Given the description of an element on the screen output the (x, y) to click on. 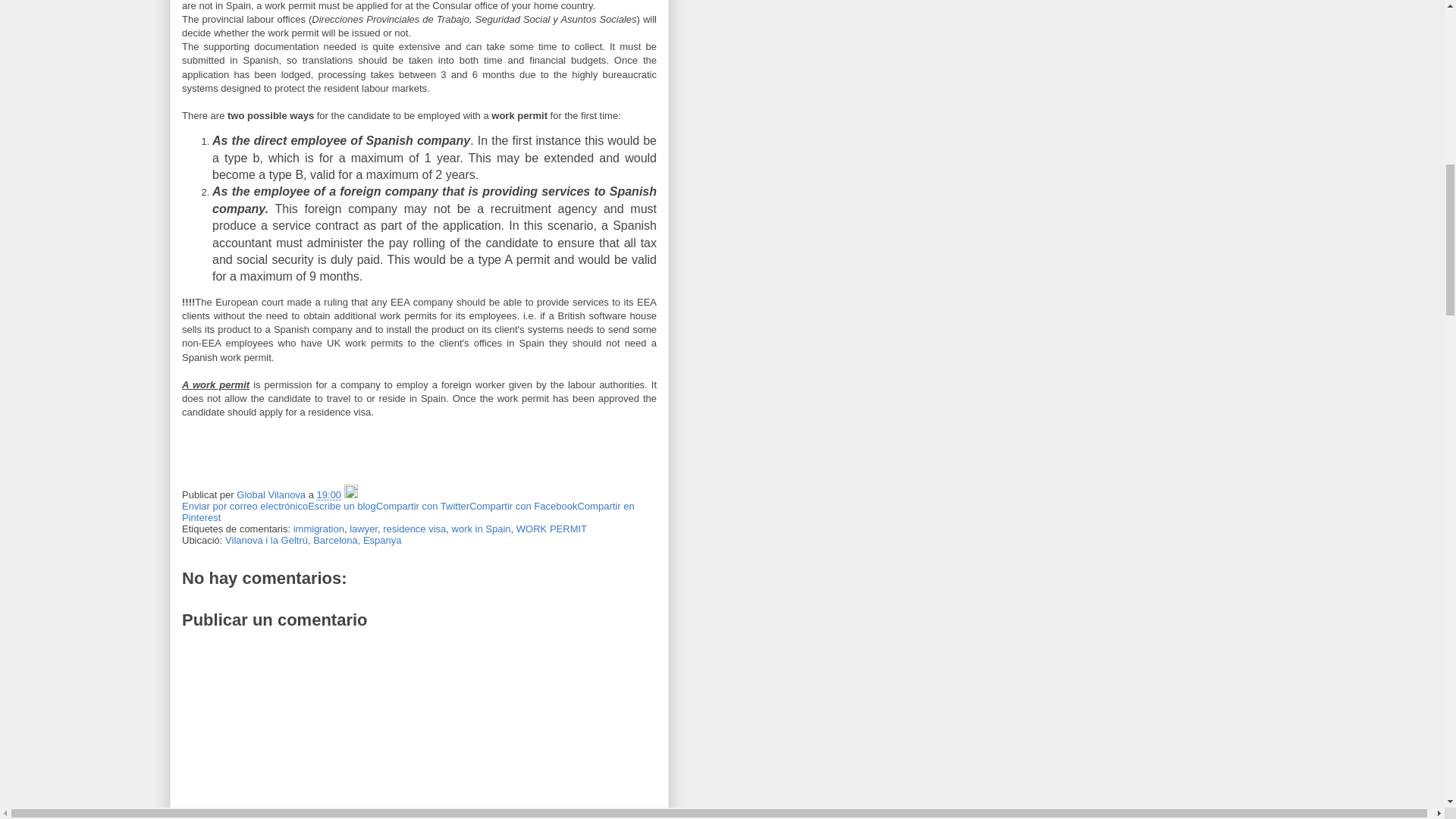
Global Vilanova (271, 494)
immigration (318, 528)
permanent link (329, 494)
work in Spain (481, 528)
residence visa (413, 528)
Editar entrada (350, 494)
lawyer (363, 528)
Compartir con Facebook (522, 505)
Escribe un blog (341, 505)
Compartir en Pinterest (408, 511)
Compartir con Twitter (421, 505)
Escribe un blog (341, 505)
19:00 (329, 494)
author profile (271, 494)
WORK PERMIT (551, 528)
